Given the description of an element on the screen output the (x, y) to click on. 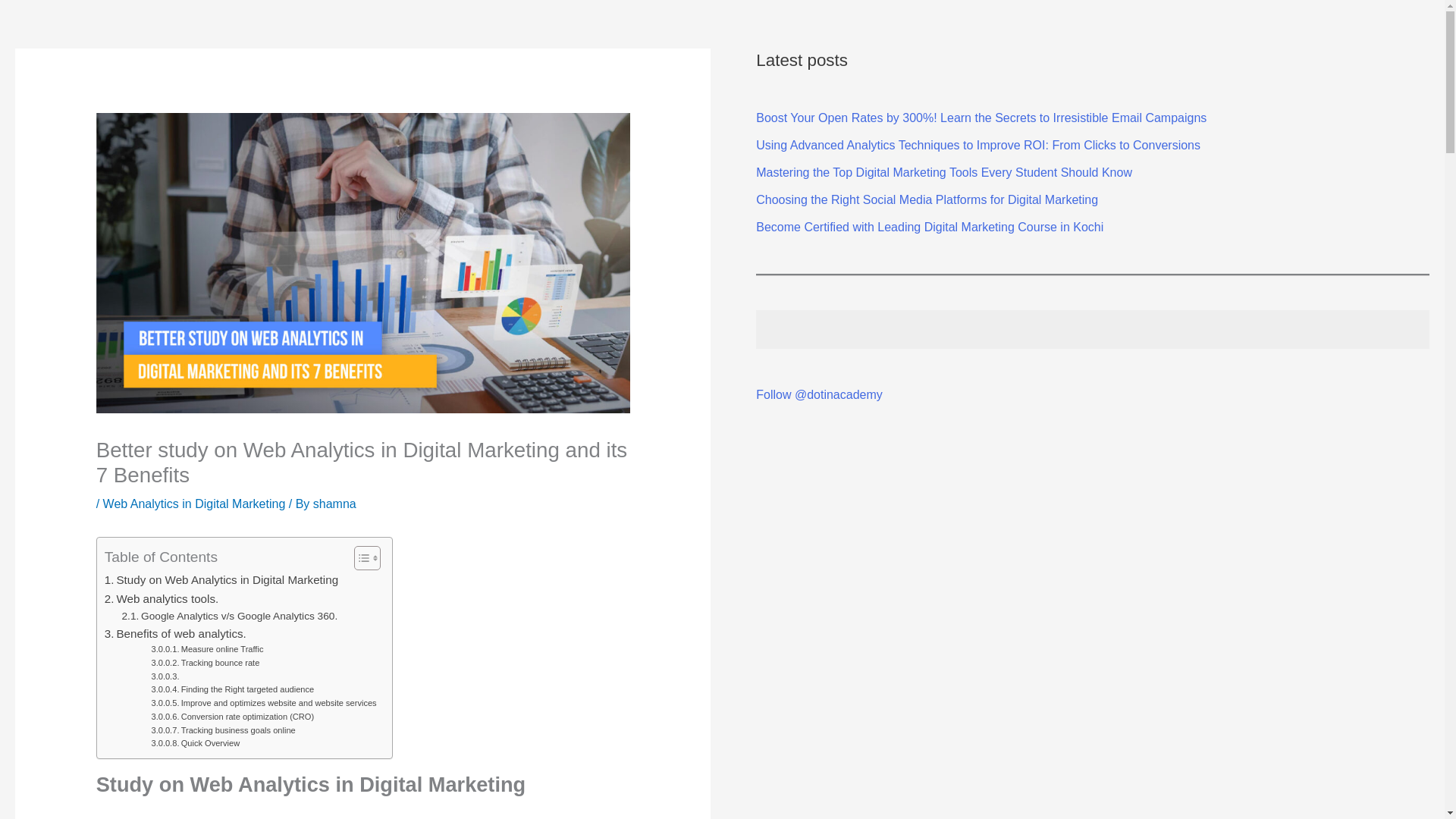
Web analytics tools. (161, 598)
Quick Overview (195, 744)
Web analytics tools. (161, 598)
Tracking business goals online (223, 730)
Quick Overview (195, 744)
View all posts by shamna (334, 503)
Improve and optimizes website and website services (263, 703)
